Given the description of an element on the screen output the (x, y) to click on. 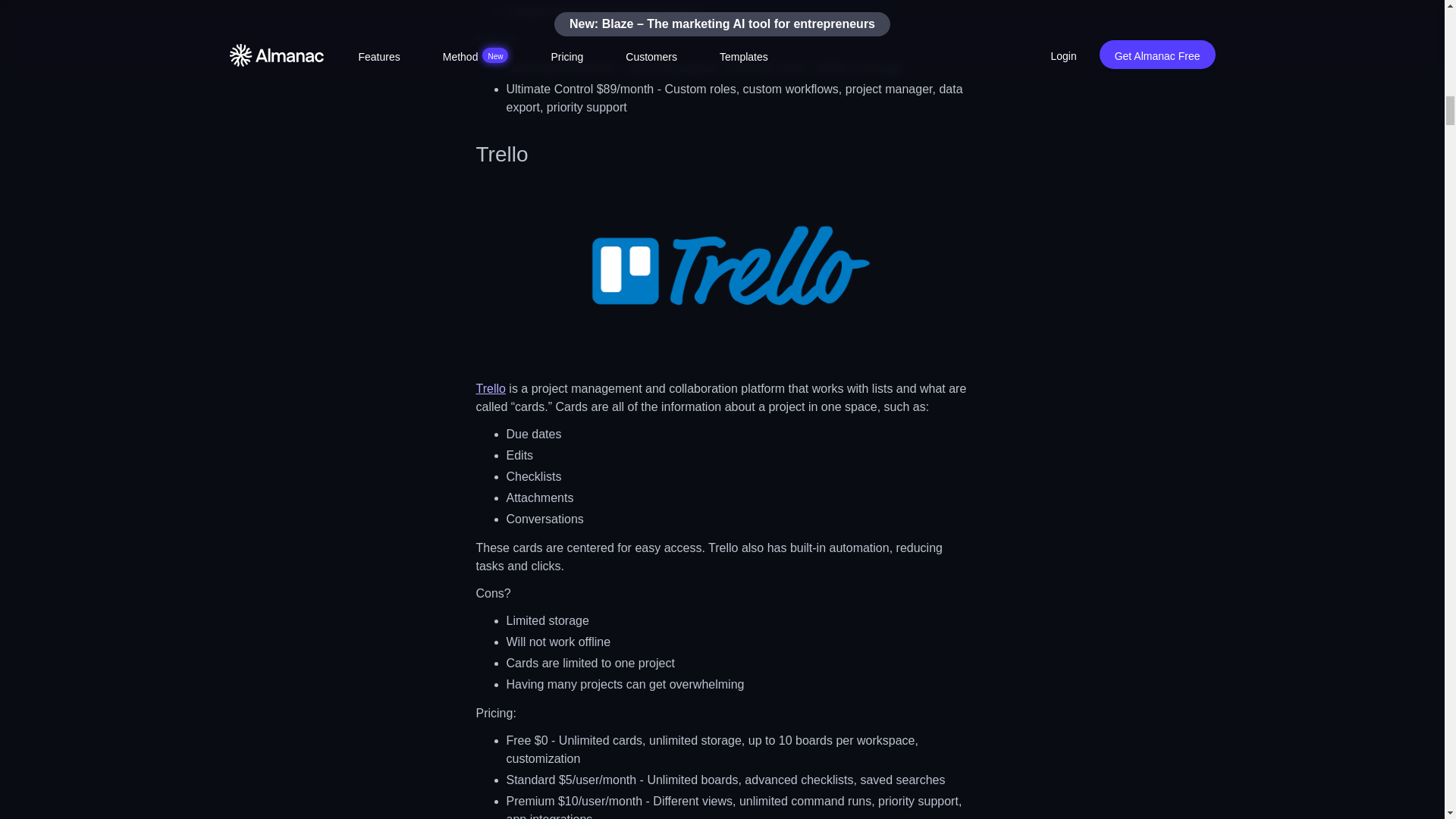
Trello (490, 388)
